Given the description of an element on the screen output the (x, y) to click on. 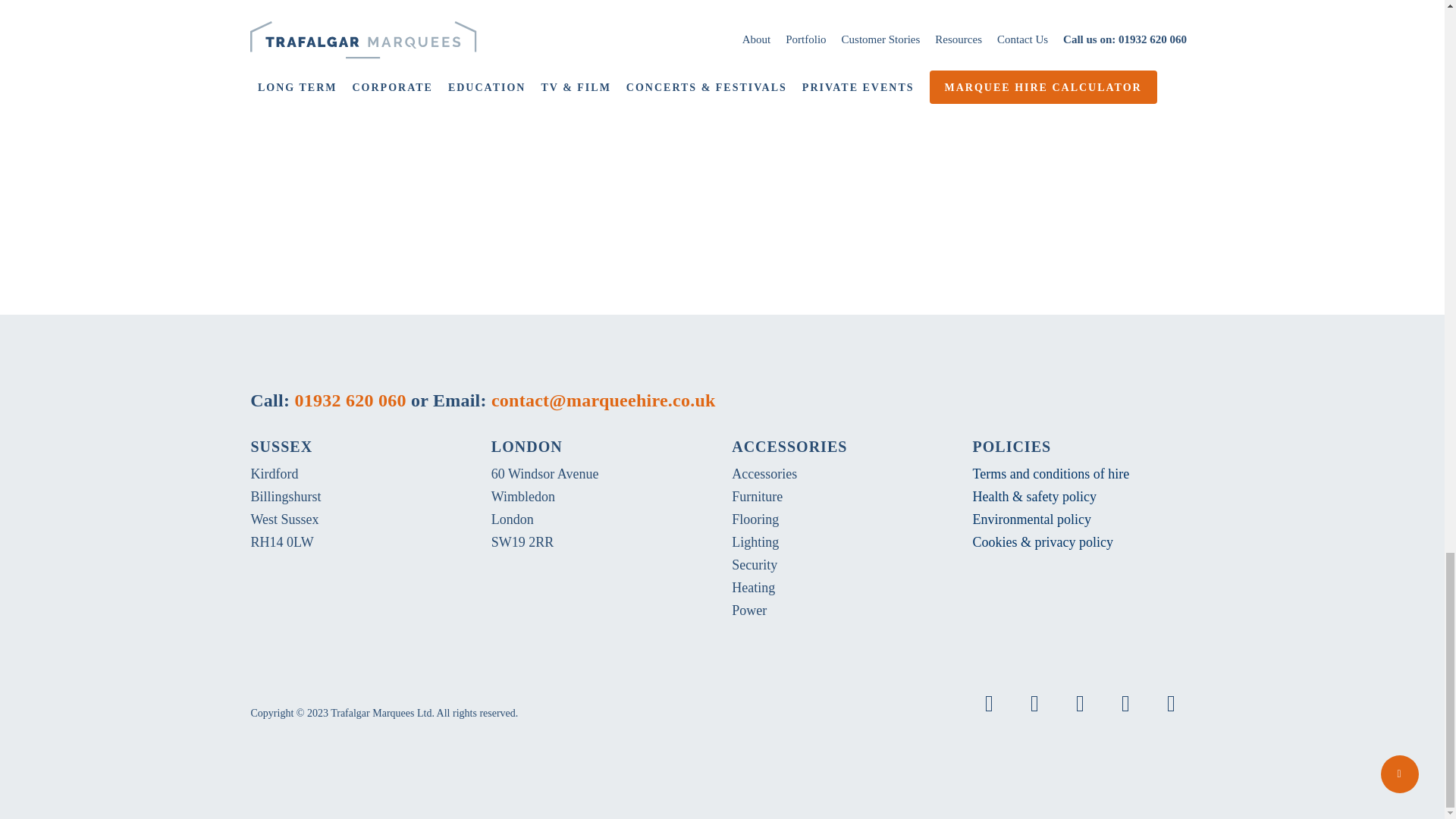
Accessories (764, 473)
Flooring (755, 519)
GET IN TOUCH (721, 142)
01932 620 060 (721, 84)
Furniture (757, 496)
01932 620 060 (350, 400)
